Given the description of an element on the screen output the (x, y) to click on. 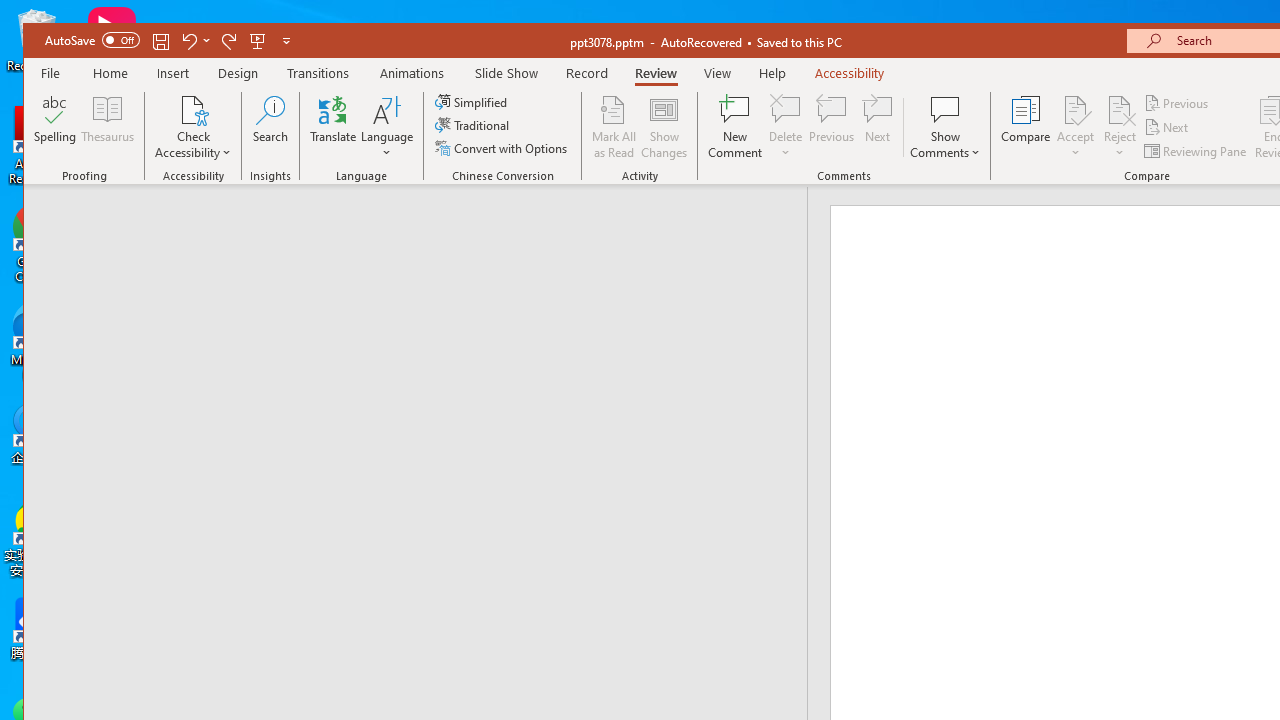
Translate (333, 127)
